Given the description of an element on the screen output the (x, y) to click on. 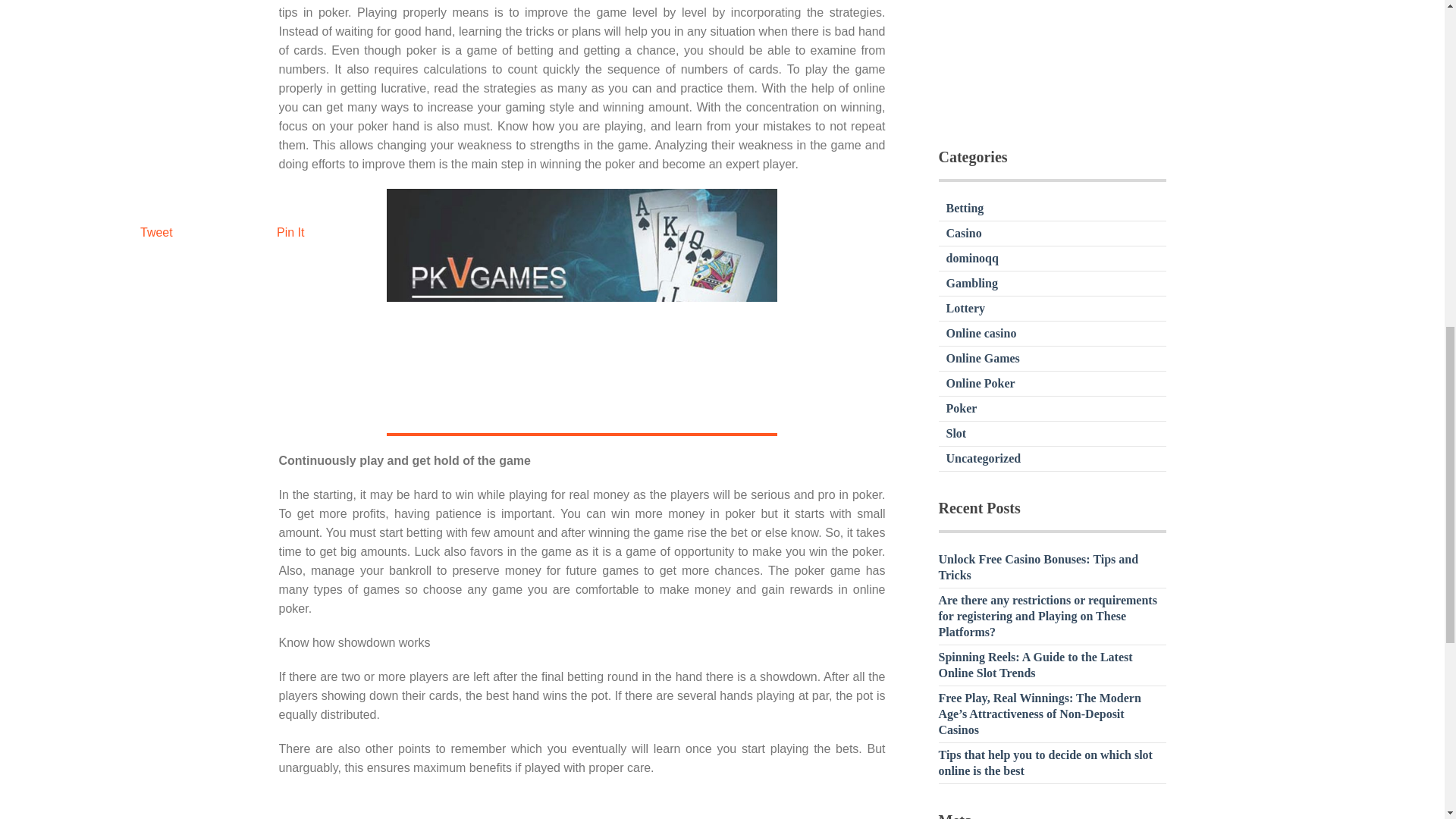
Betting (965, 207)
dominoqq (972, 257)
Gambling (971, 282)
Lottery (965, 308)
Casino (963, 232)
